Given the description of an element on the screen output the (x, y) to click on. 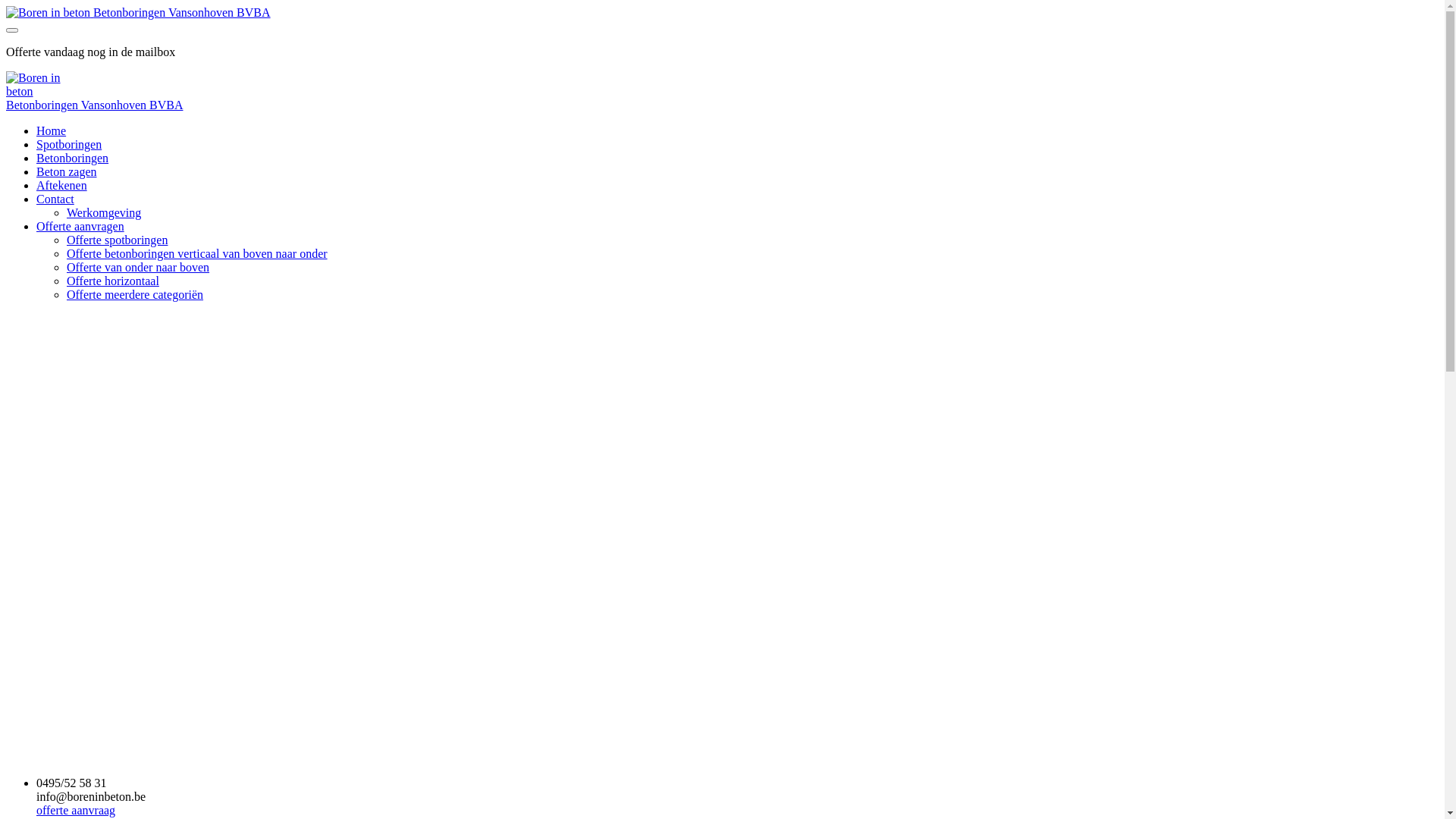
Aftekenen Element type: text (61, 184)
Spotboringen Element type: text (68, 144)
offerte aanvraag Element type: text (737, 810)
Offerte spotboringen Element type: text (116, 239)
Offerte betonboringen verticaal van boven naar onder Element type: text (196, 253)
Betonboringen Vansonhoven BVBA Element type: text (94, 104)
Offerte horizontaal Element type: text (112, 280)
Betonboringen Vansonhoven BVBA Element type: text (138, 12)
Beton zagen Element type: text (66, 171)
Boren in beton Element type: hover (48, 12)
Betonboringen Element type: text (72, 157)
Home Element type: text (50, 130)
Werkomgeving Element type: text (103, 212)
Offerte aanvragen Element type: text (80, 225)
Contact Element type: text (55, 198)
Boren in beton Element type: hover (45, 84)
Offerte van onder naar boven Element type: text (137, 266)
